Given the description of an element on the screen output the (x, y) to click on. 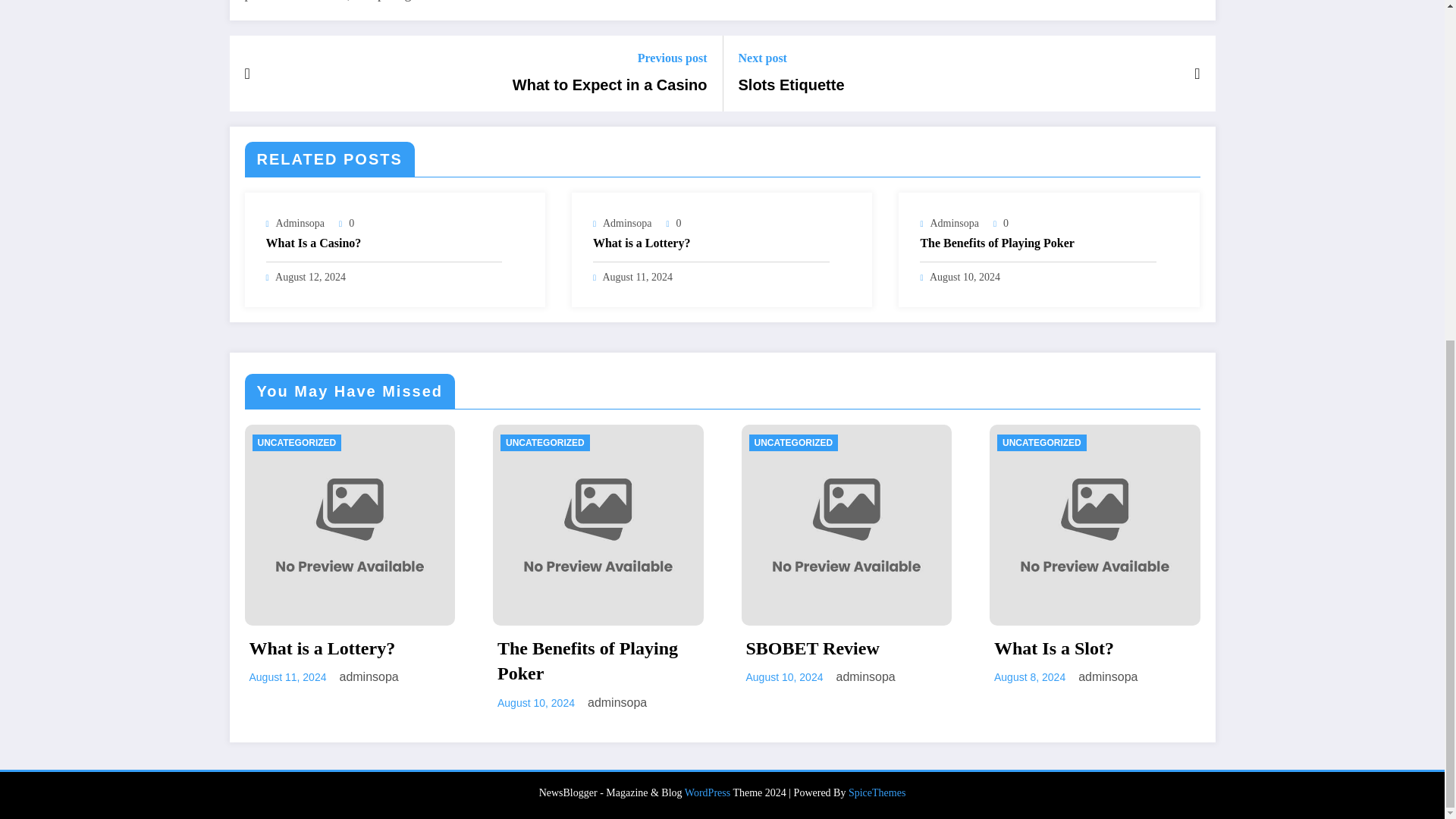
Adminsopa (627, 223)
Adminsopa (300, 223)
What to Expect in a Casino (609, 84)
What is a Lottery? (710, 243)
Slots Etiquette (791, 84)
What Is a Casino? (383, 243)
August 11, 2024 (636, 276)
Next post (791, 57)
The Benefits of Playing Poker (1038, 243)
Previous post (609, 57)
